Given the description of an element on the screen output the (x, y) to click on. 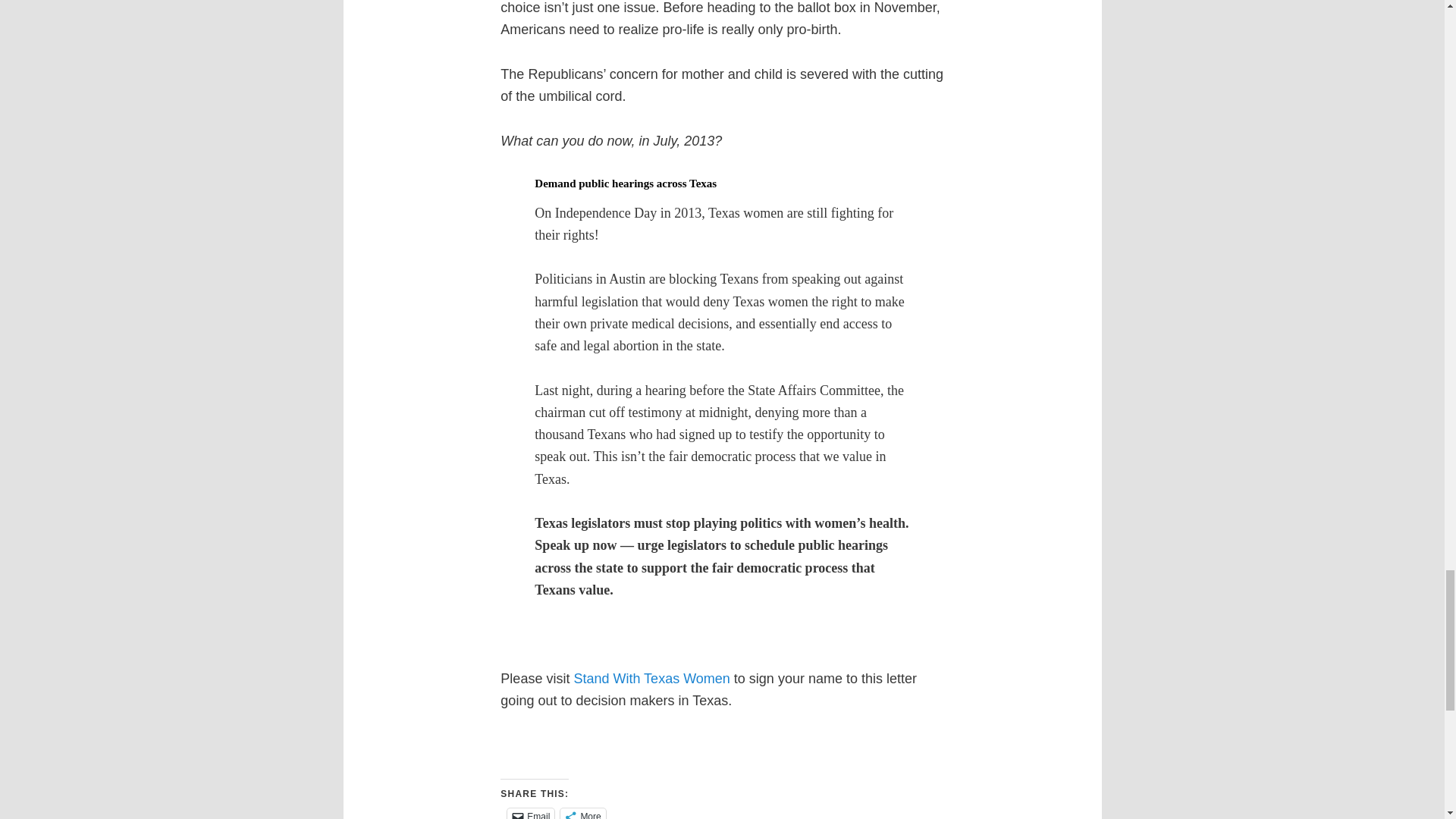
More (582, 813)
Click to email a link to a friend (530, 813)
Stand With Texas Women (653, 678)
Email (530, 813)
